Given the description of an element on the screen output the (x, y) to click on. 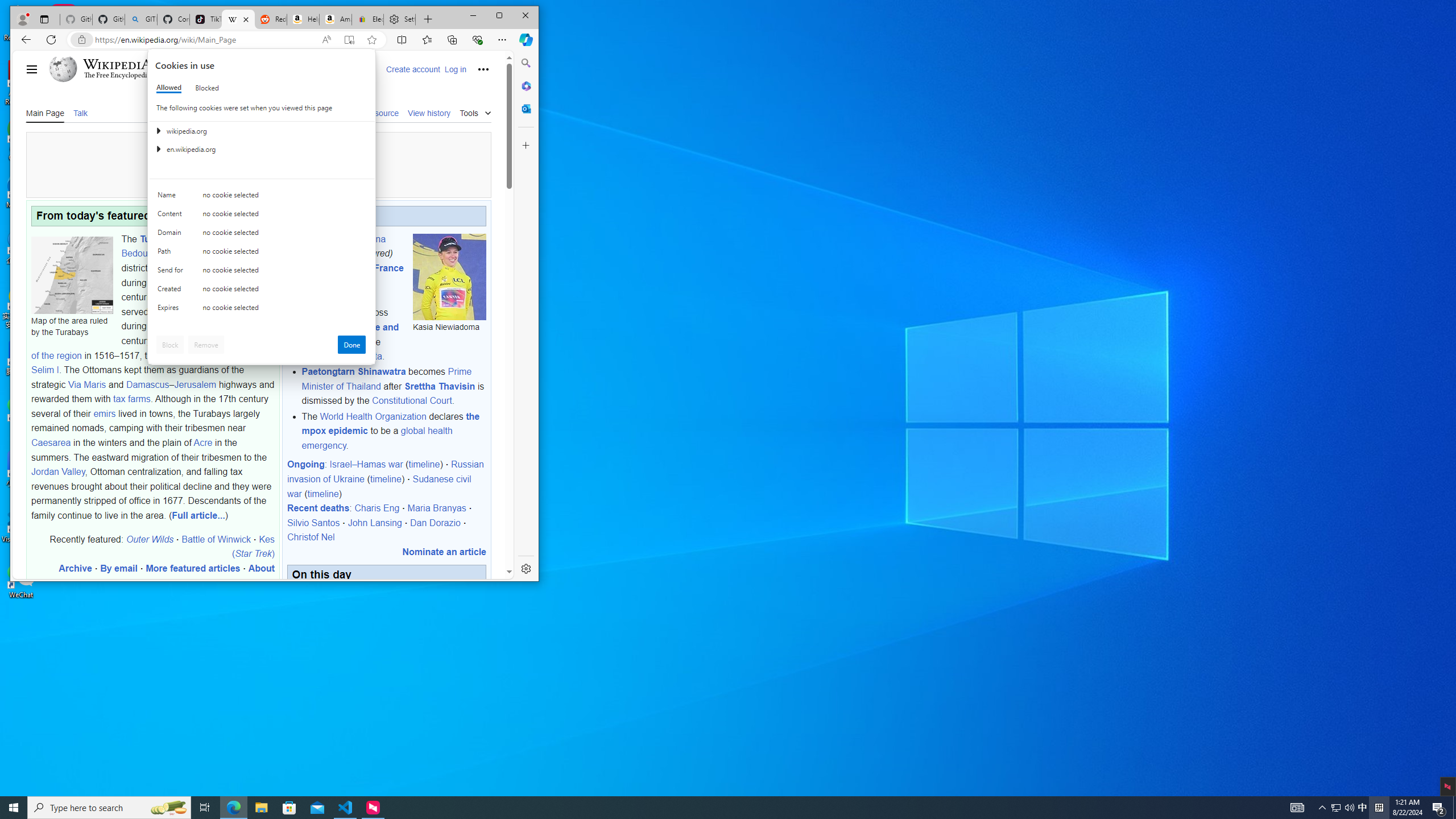
Task View (204, 807)
Show desktop (1454, 807)
Class: c0153 c0157 c0154 (261, 197)
Name (172, 197)
Send for (1362, 807)
no cookie selected (172, 272)
Done (284, 310)
Type here to search (351, 344)
AutomationID: 4105 (108, 807)
Start (1297, 807)
Block (13, 807)
Microsoft Edge - 1 running window (169, 344)
